Given the description of an element on the screen output the (x, y) to click on. 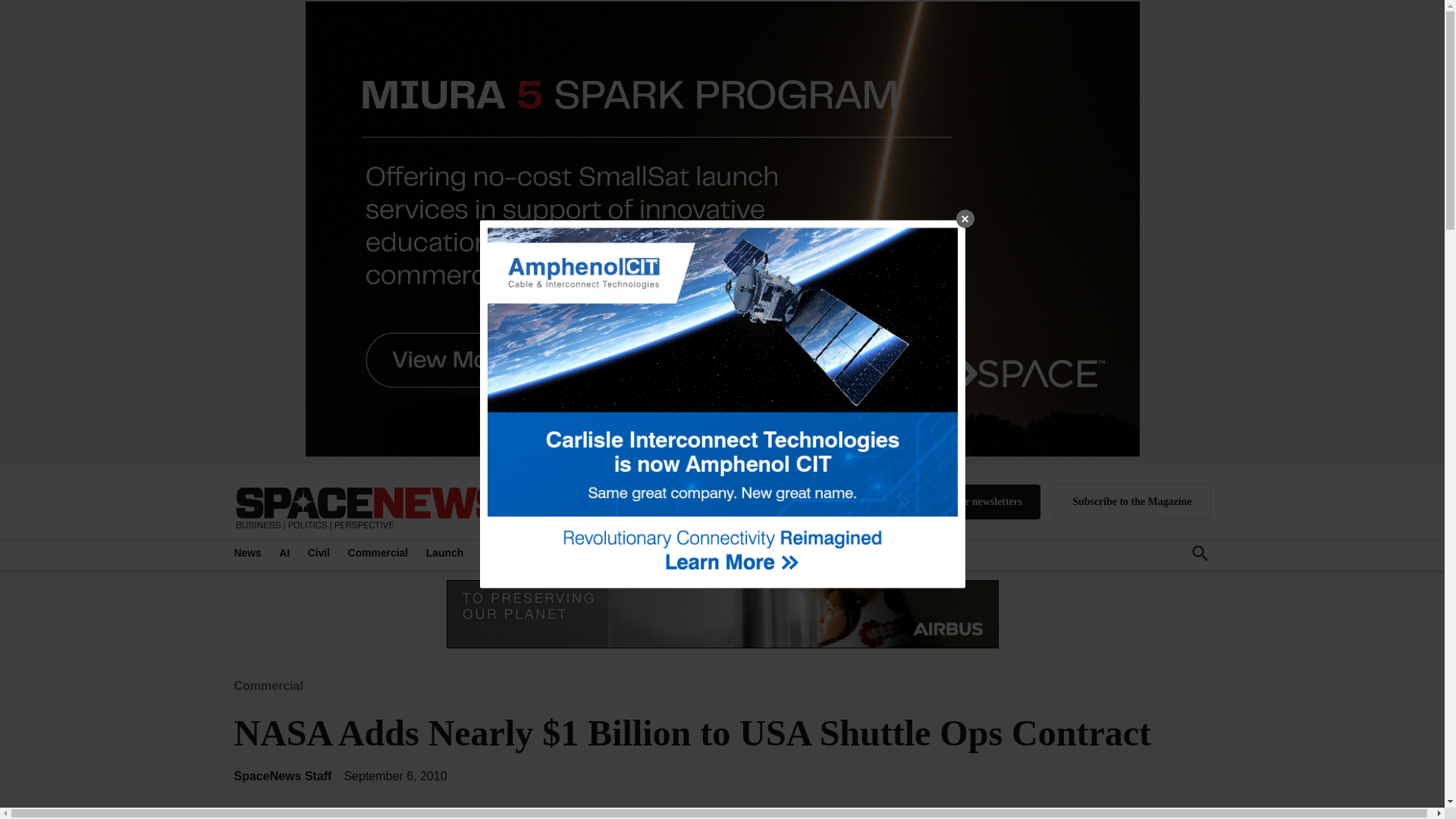
Click to share on LinkedIn (313, 817)
Click to share on Clipboard (414, 818)
Click to share on X (246, 817)
Click to share on Reddit (347, 817)
Click to share on Facebook (280, 817)
Subscribe to the Magazine (1130, 502)
AI (284, 552)
Click to email a link to a friend (380, 817)
Sign up for our newsletters (961, 501)
News (249, 552)
